Given the description of an element on the screen output the (x, y) to click on. 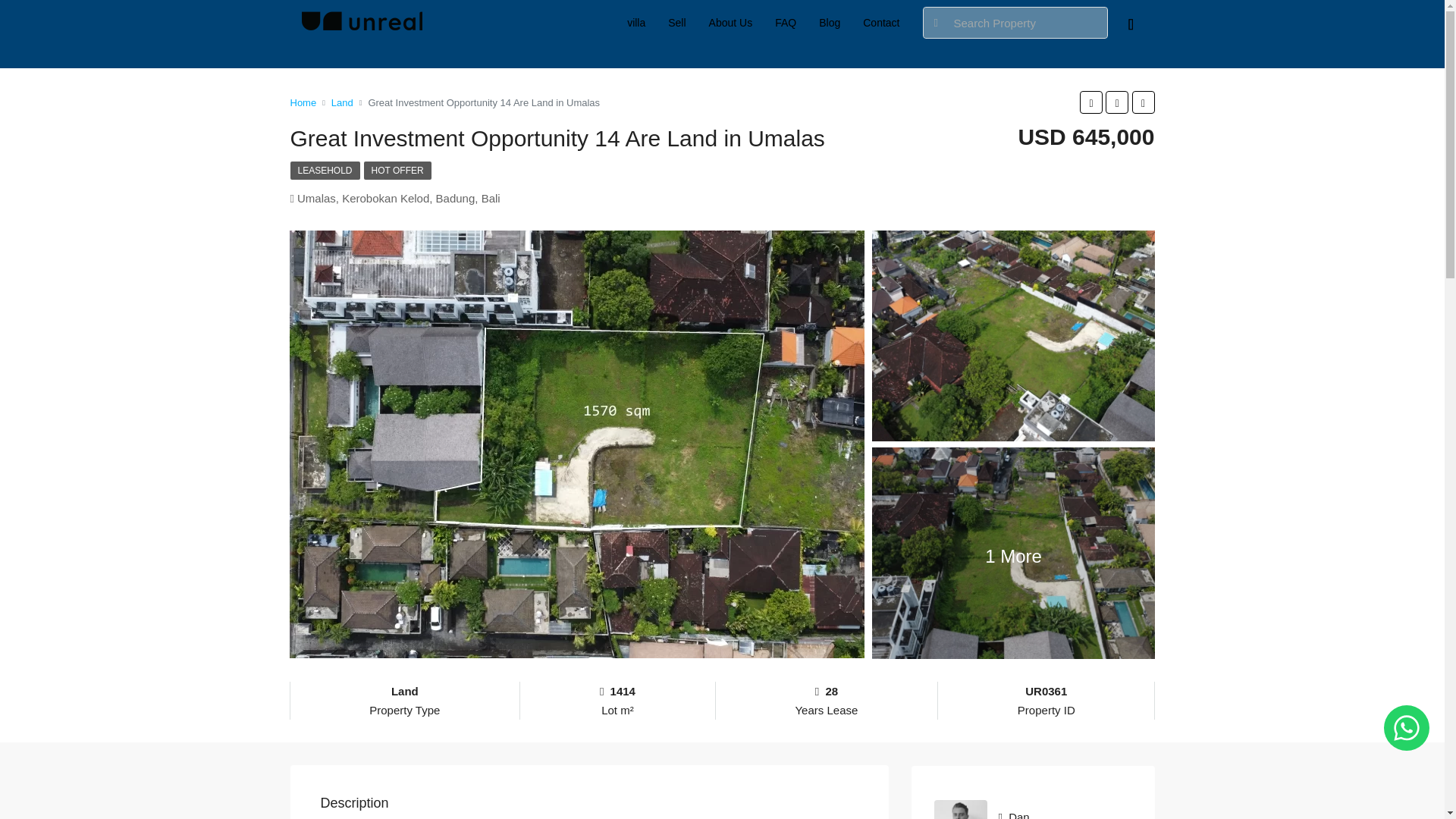
villa (635, 22)
Contact (881, 22)
Land (342, 101)
FAQ (785, 22)
Home (302, 101)
About Us (730, 22)
Blog (829, 22)
LEASEHOLD (324, 170)
HOT OFFER (397, 170)
